Given the description of an element on the screen output the (x, y) to click on. 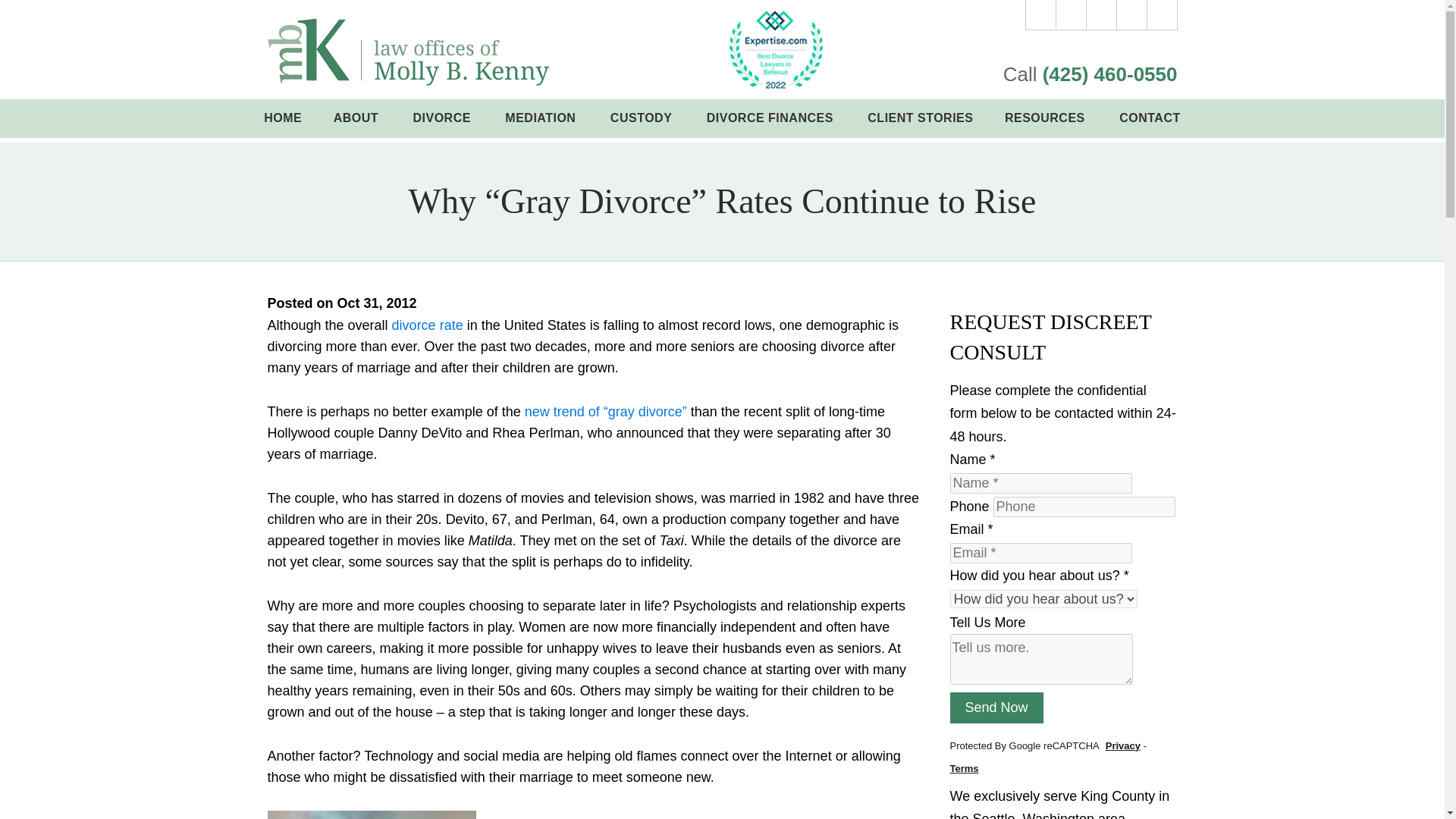
MEDIATION (542, 118)
DIVORCE (443, 118)
Search (1161, 15)
ABOUT (357, 118)
CUSTODY (642, 118)
HOME (282, 118)
